Given the description of an element on the screen output the (x, y) to click on. 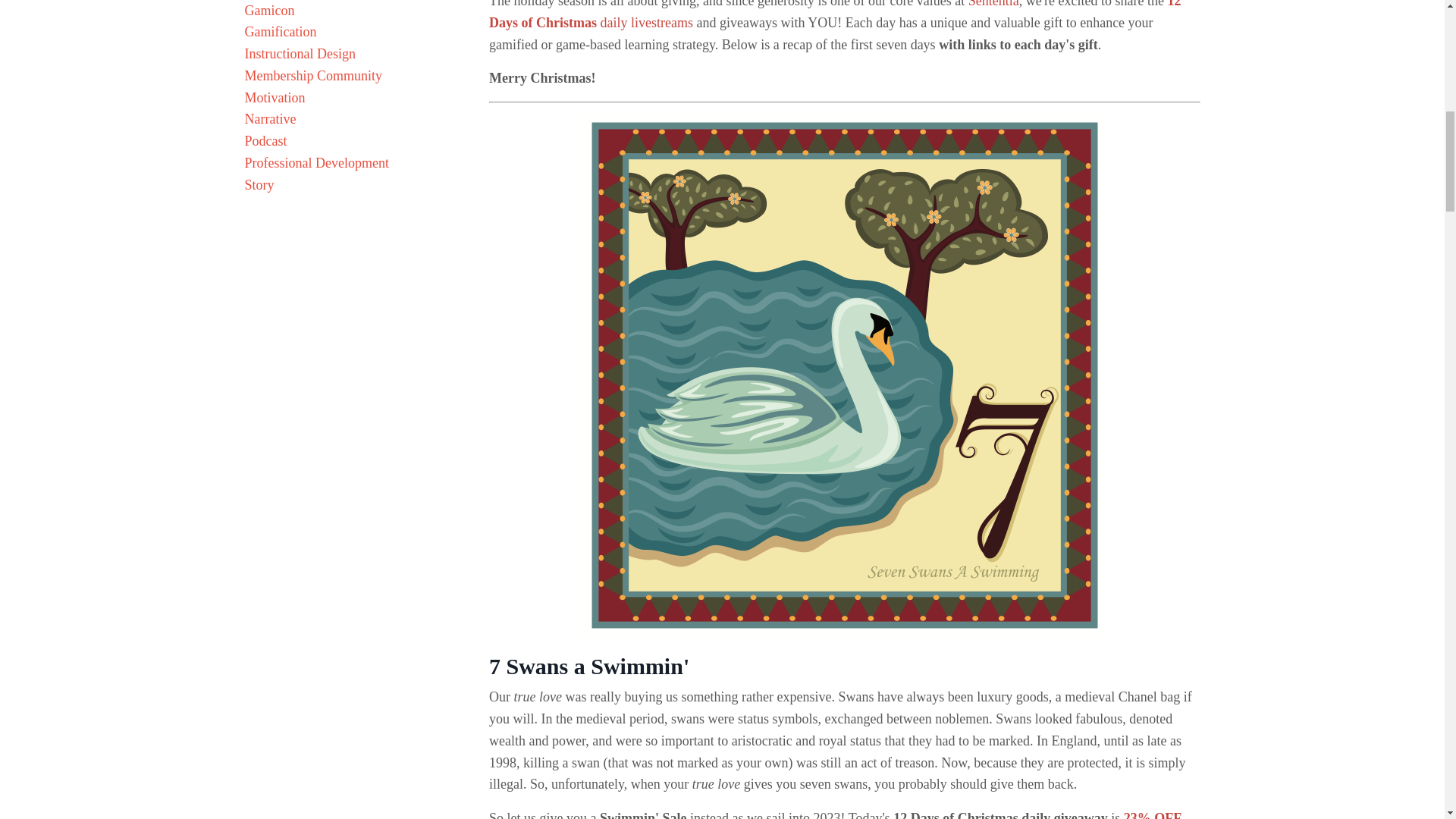
12 Days of Christmas daily livestreams (834, 15)
12 Days of Christmas daily livestreams (834, 15)
Sententia (993, 4)
